Given the description of an element on the screen output the (x, y) to click on. 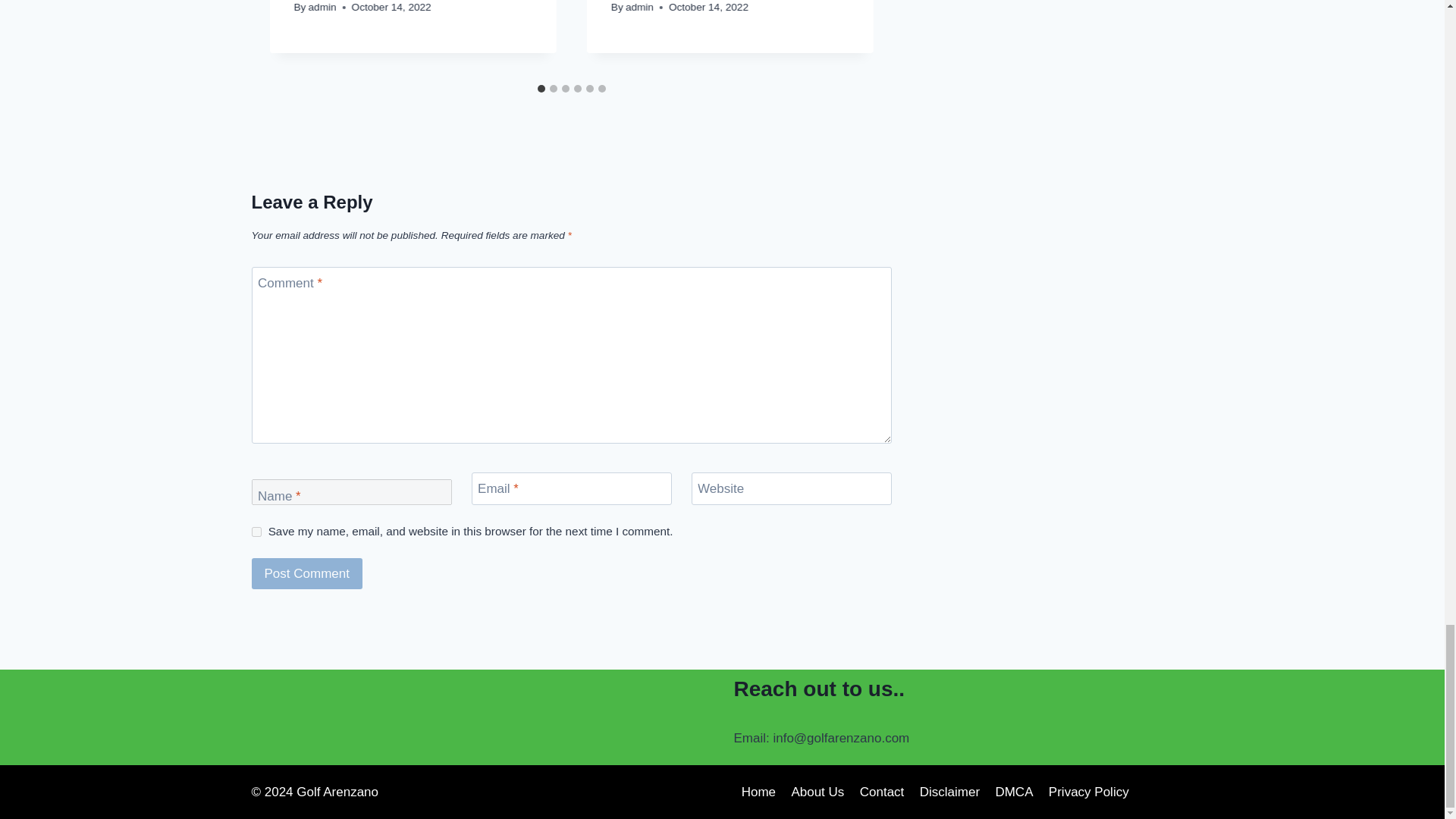
Post Comment (306, 572)
yes (256, 532)
